Given the description of an element on the screen output the (x, y) to click on. 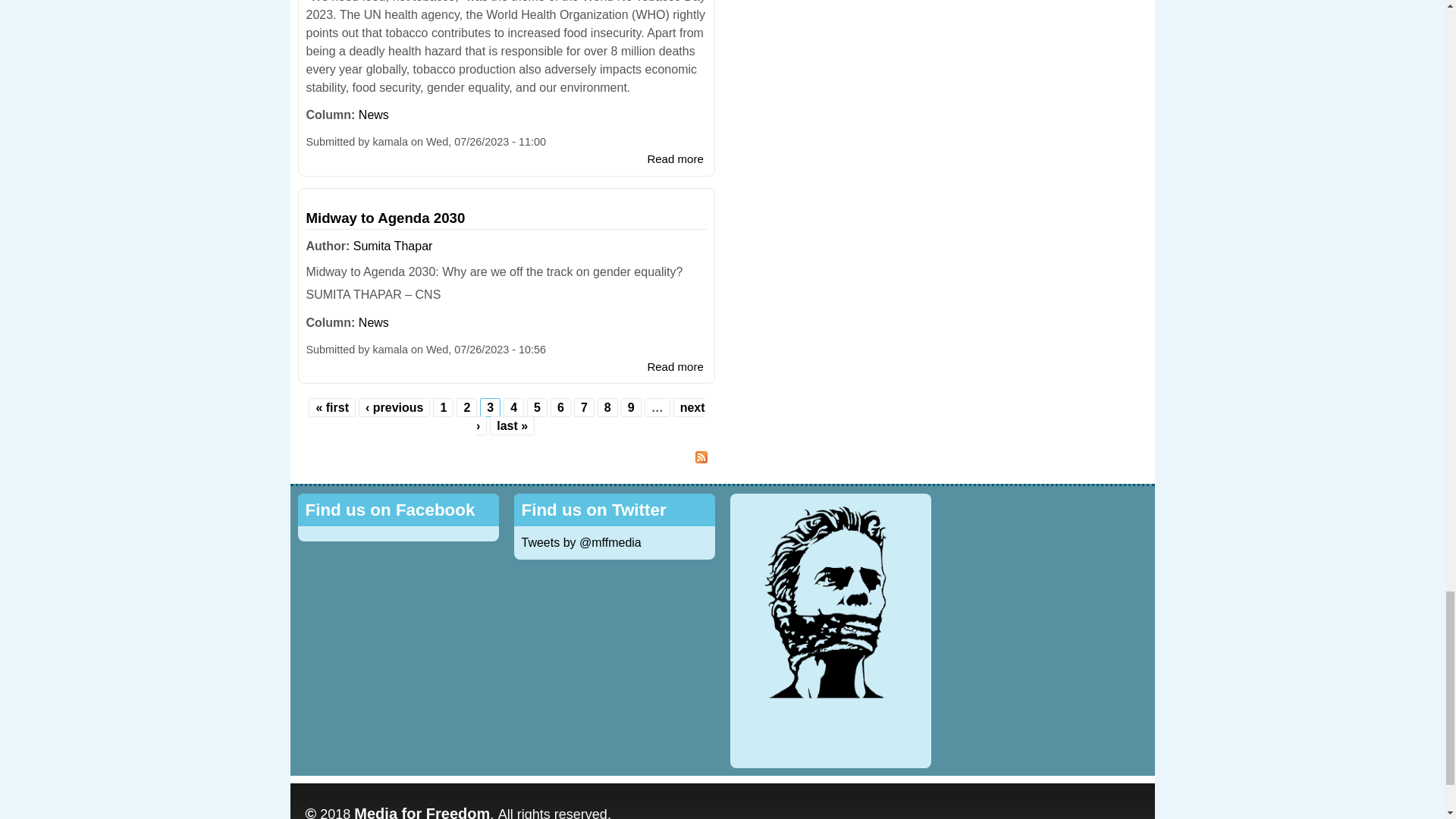
Go to page 6 (560, 407)
Go to previous page (394, 407)
Go to page 2 (466, 407)
Go to page 4 (513, 407)
News (373, 114)
Go to first page (332, 407)
Go to page 1 (442, 407)
Midway to Agenda 2030 (674, 366)
Go to page 5 (537, 407)
When farmers choose to grow food (674, 158)
